Given the description of an element on the screen output the (x, y) to click on. 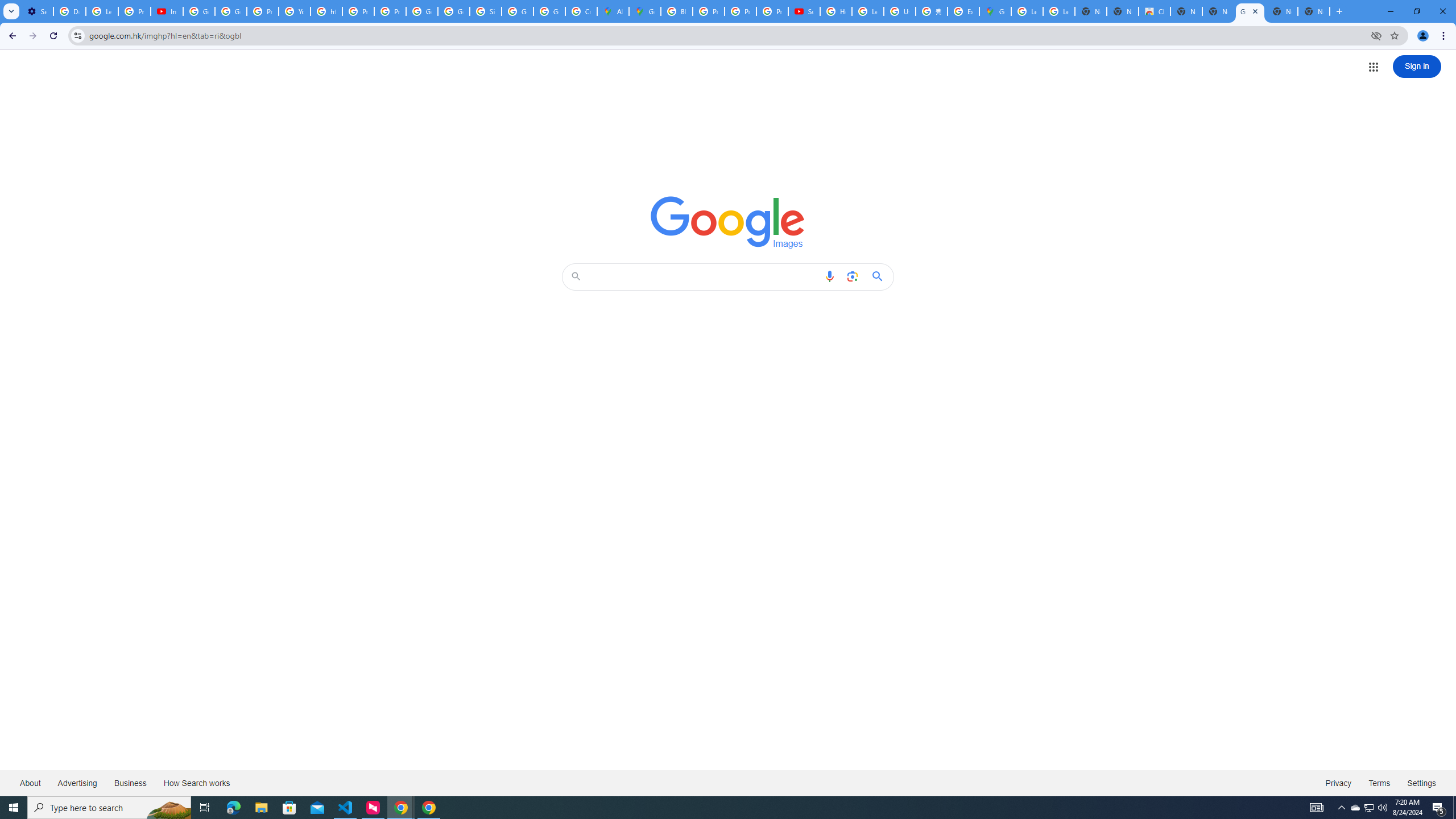
Business (129, 782)
Introduction | Google Privacy Policy - YouTube (166, 11)
Search by image (852, 276)
Terms (1379, 782)
Google Maps (644, 11)
Privacy (1337, 782)
Delete photos & videos - Computer - Google Photos Help (69, 11)
